Given the description of an element on the screen output the (x, y) to click on. 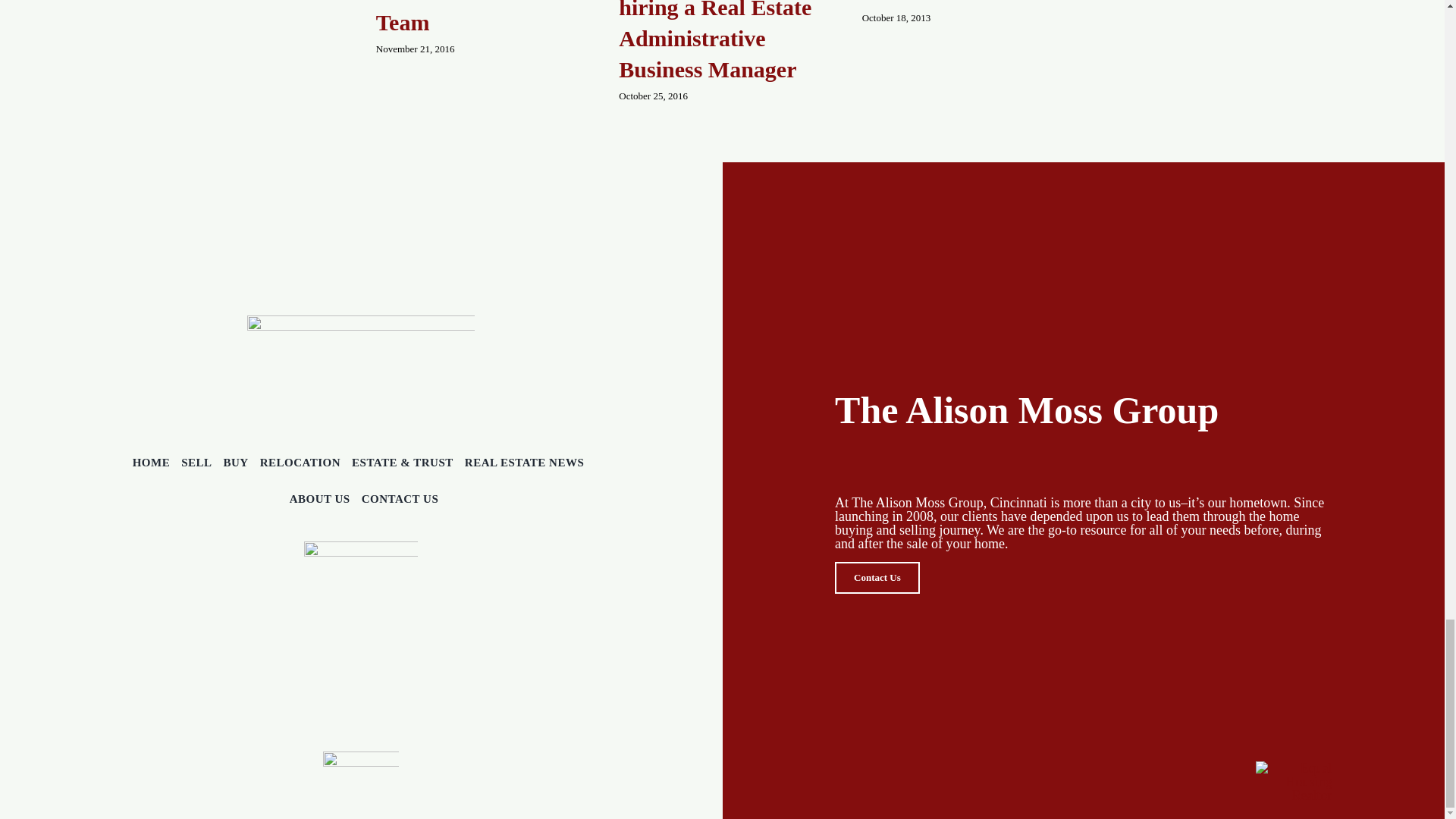
ABOUT US (319, 498)
Ohio Association of Realtors Sales Award Winner (955, 2)
HOME (151, 462)
REAL ESTATE NEWS (524, 462)
Ohio Association of Realtors Sales Award Winner (955, 2)
CONTACT US (400, 498)
RELOCATION (300, 462)
